Given the description of an element on the screen output the (x, y) to click on. 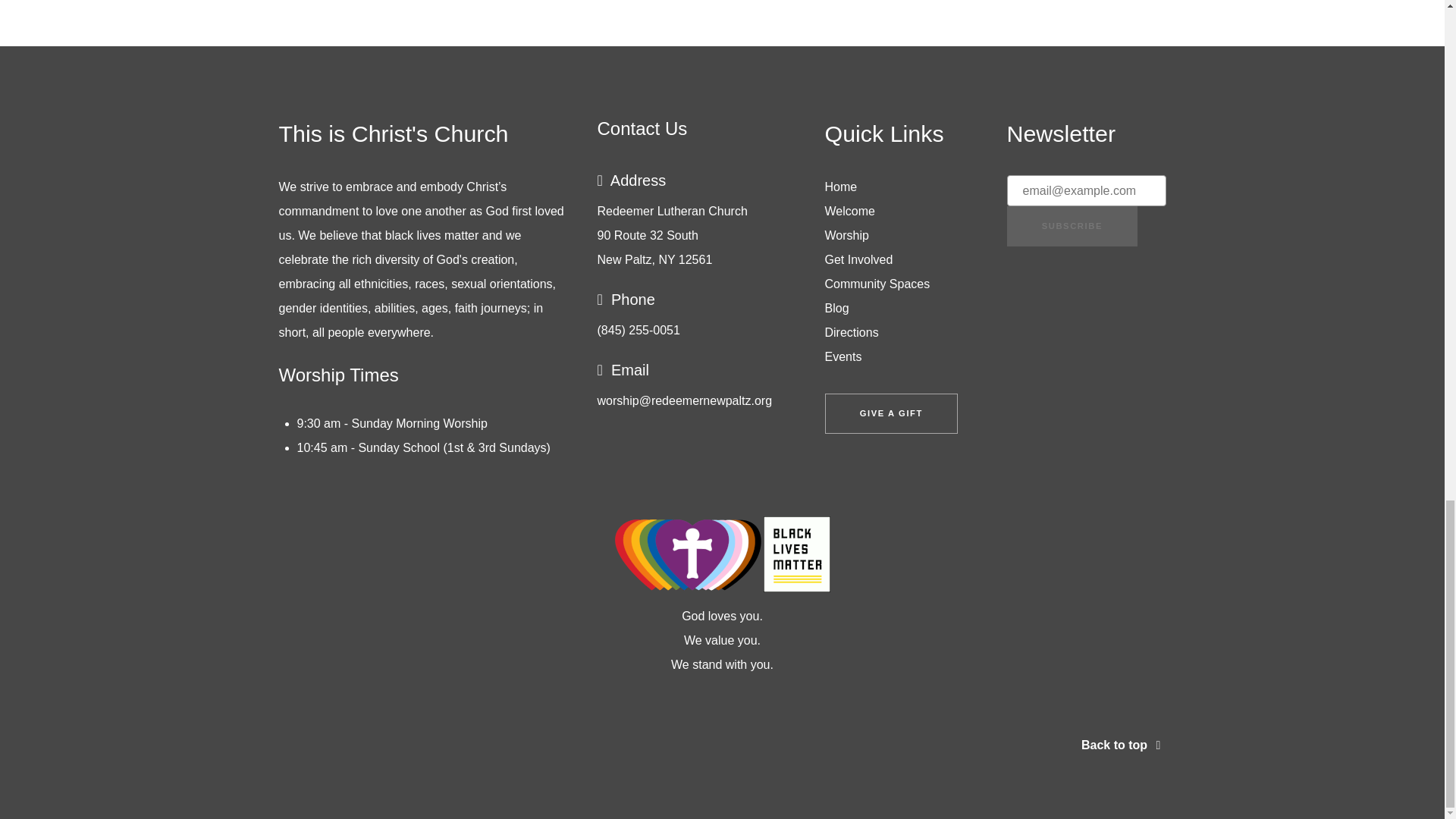
Worship Times (338, 374)
9:30 am - Sunday Morning Worship (392, 422)
Back to top (1123, 744)
